Given the description of an element on the screen output the (x, y) to click on. 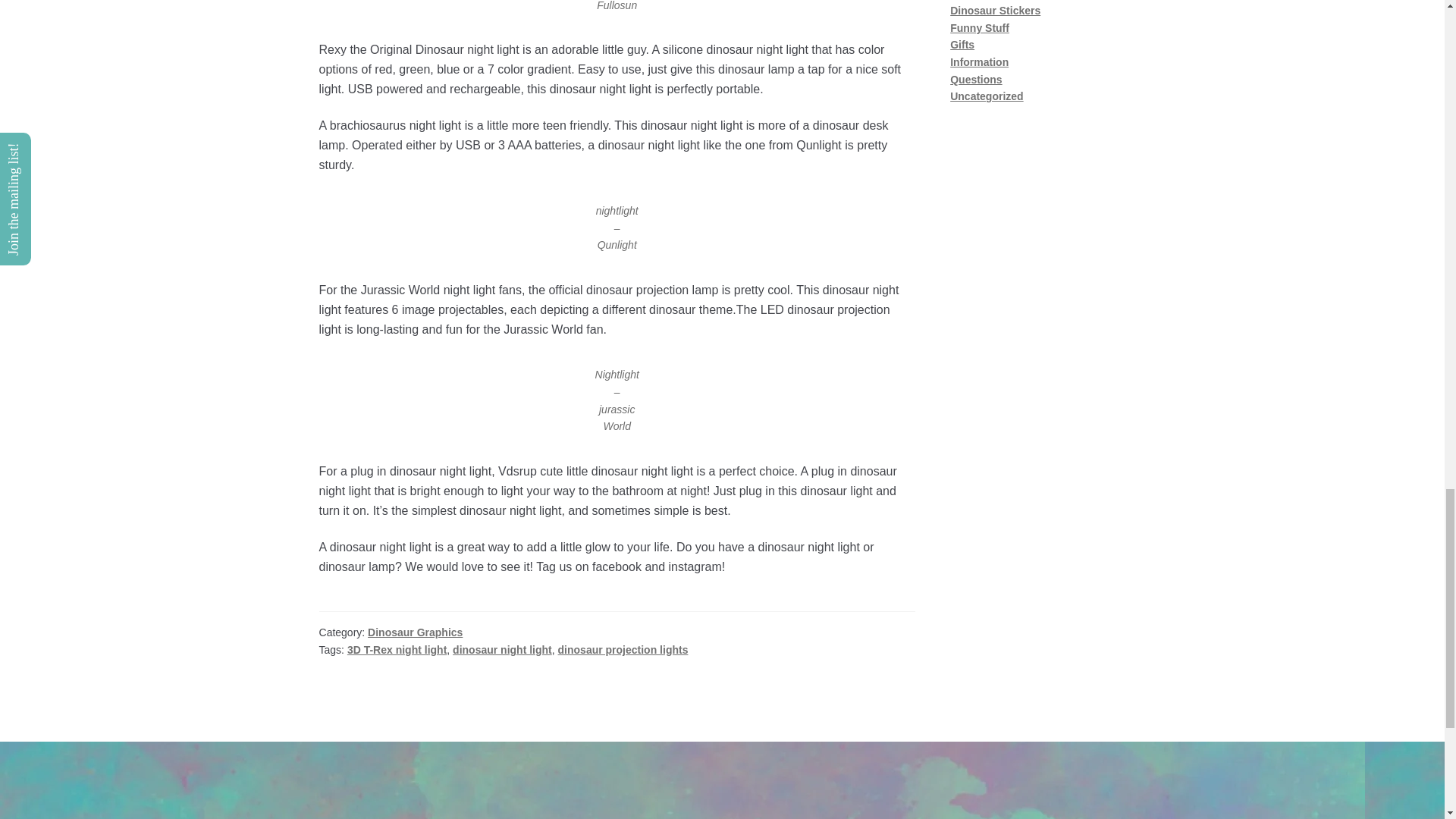
dinosaur night light (501, 649)
Dinosaur Graphics (415, 632)
dinosaur projection lights (622, 649)
3D T-Rex night light (396, 649)
